Given the description of an element on the screen output the (x, y) to click on. 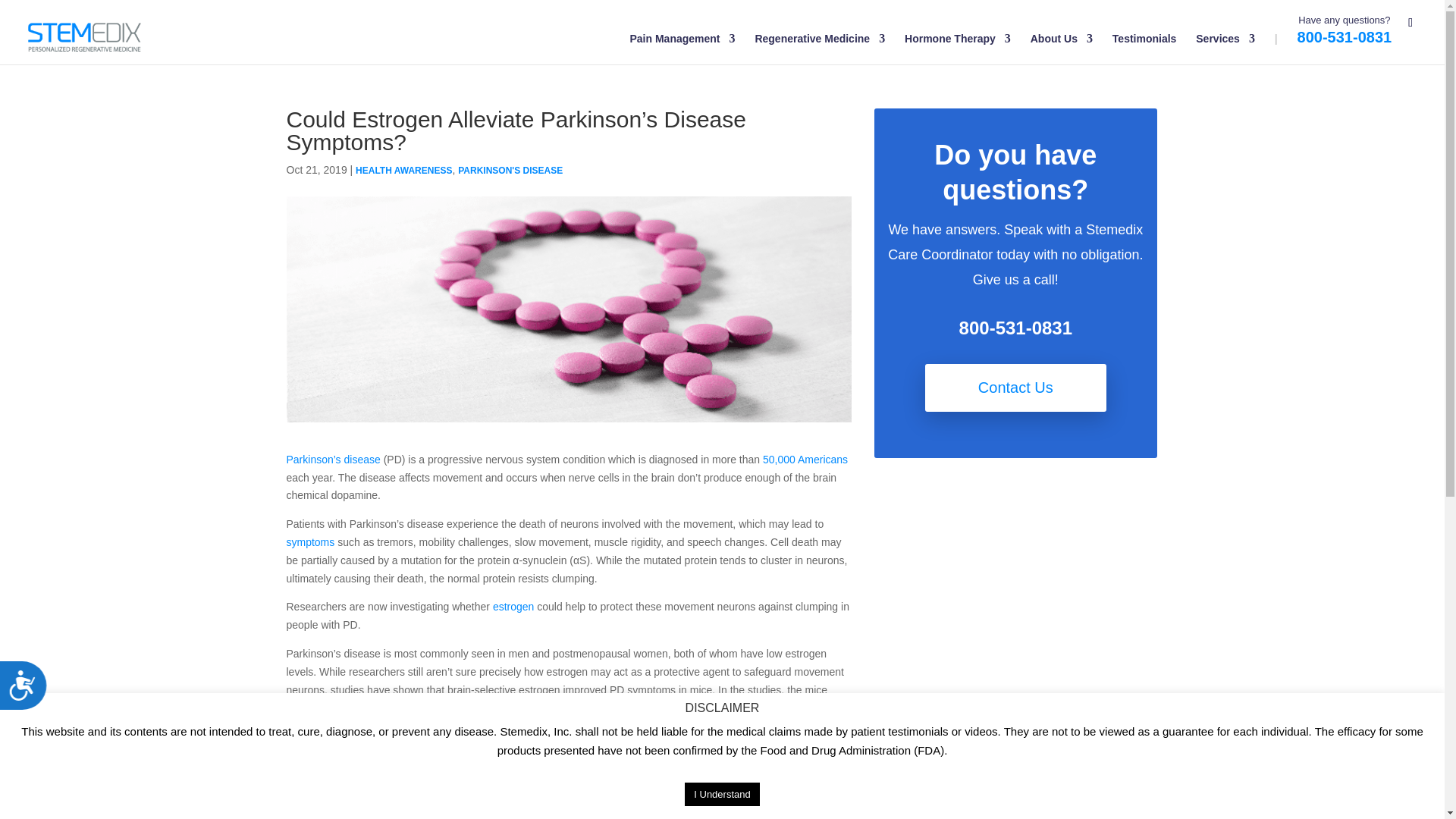
Accessibility (29, 690)
Regenerative Medicine (819, 48)
Pain Management (681, 48)
